Given the description of an element on the screen output the (x, y) to click on. 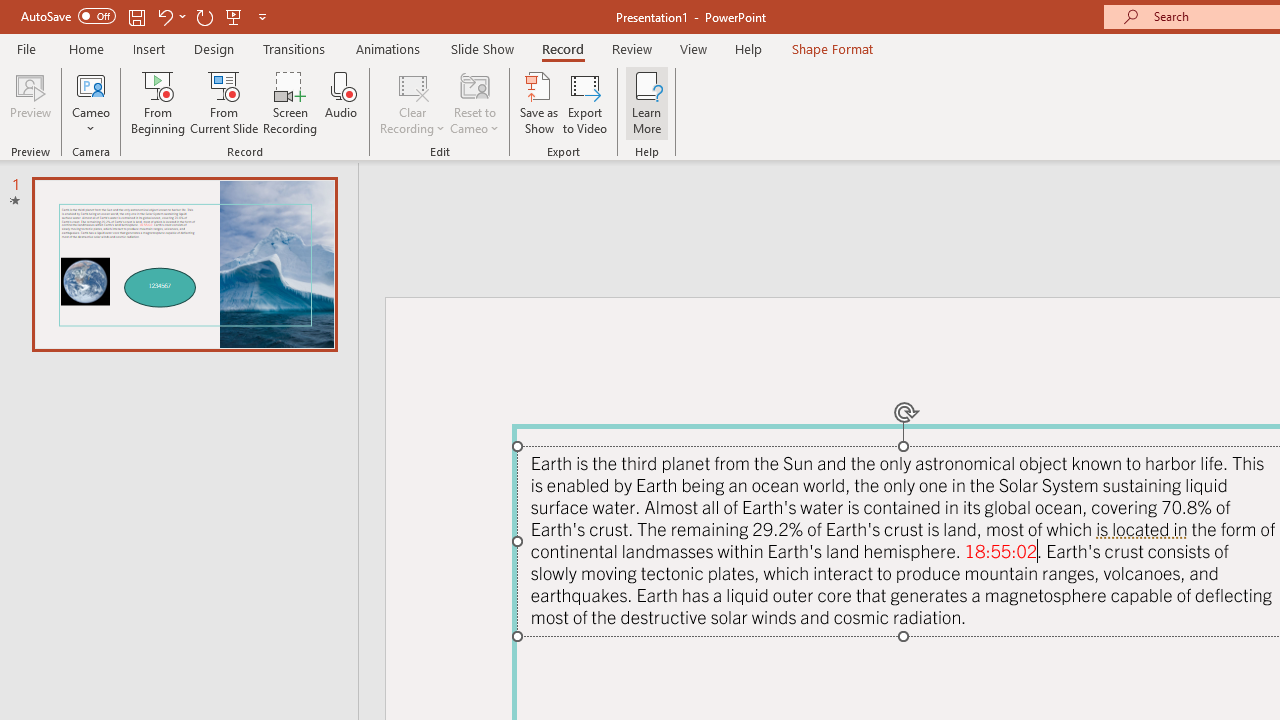
Screen Recording (290, 102)
Learn More (646, 102)
From Current Slide... (224, 102)
Reset to Cameo (474, 102)
